Given the description of an element on the screen output the (x, y) to click on. 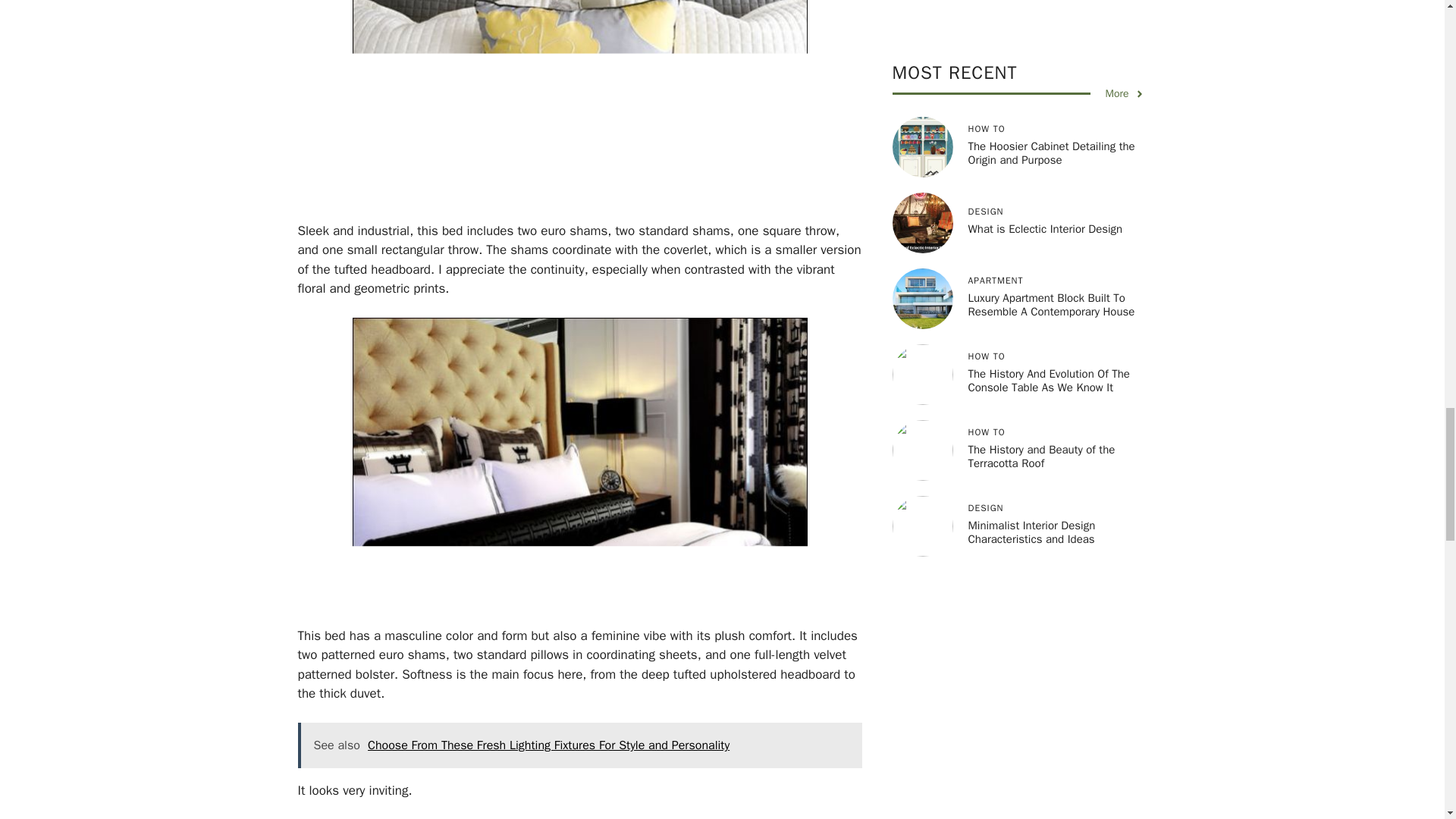
Bed Pillow Arrangements What s Your Number (579, 98)
Bed Pillow Arrangements What s Your Number (579, 459)
